Given the description of an element on the screen output the (x, y) to click on. 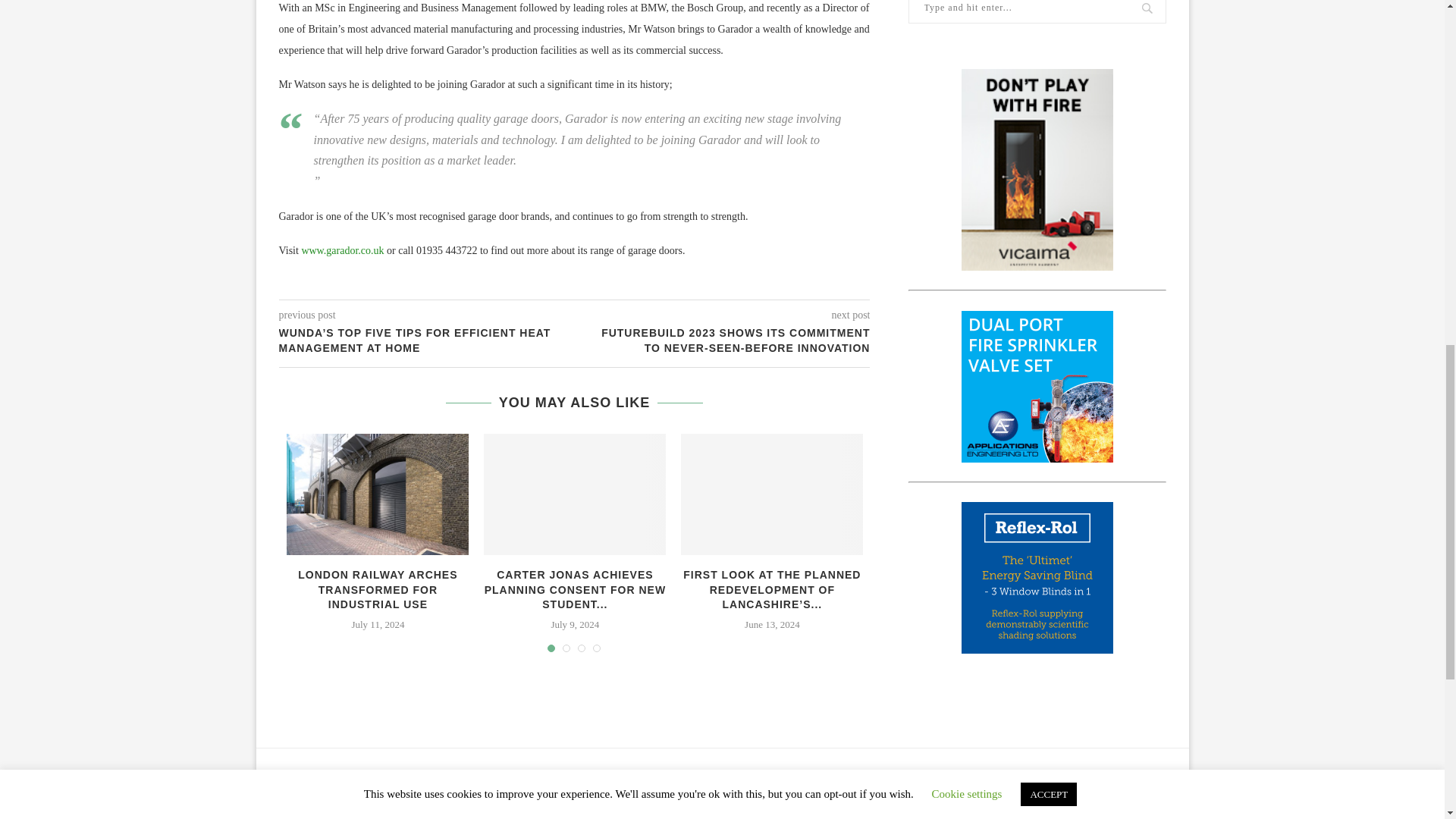
London railway arches transformed for industrial use (377, 494)
www.garador.co.uk (342, 250)
